Given the description of an element on the screen output the (x, y) to click on. 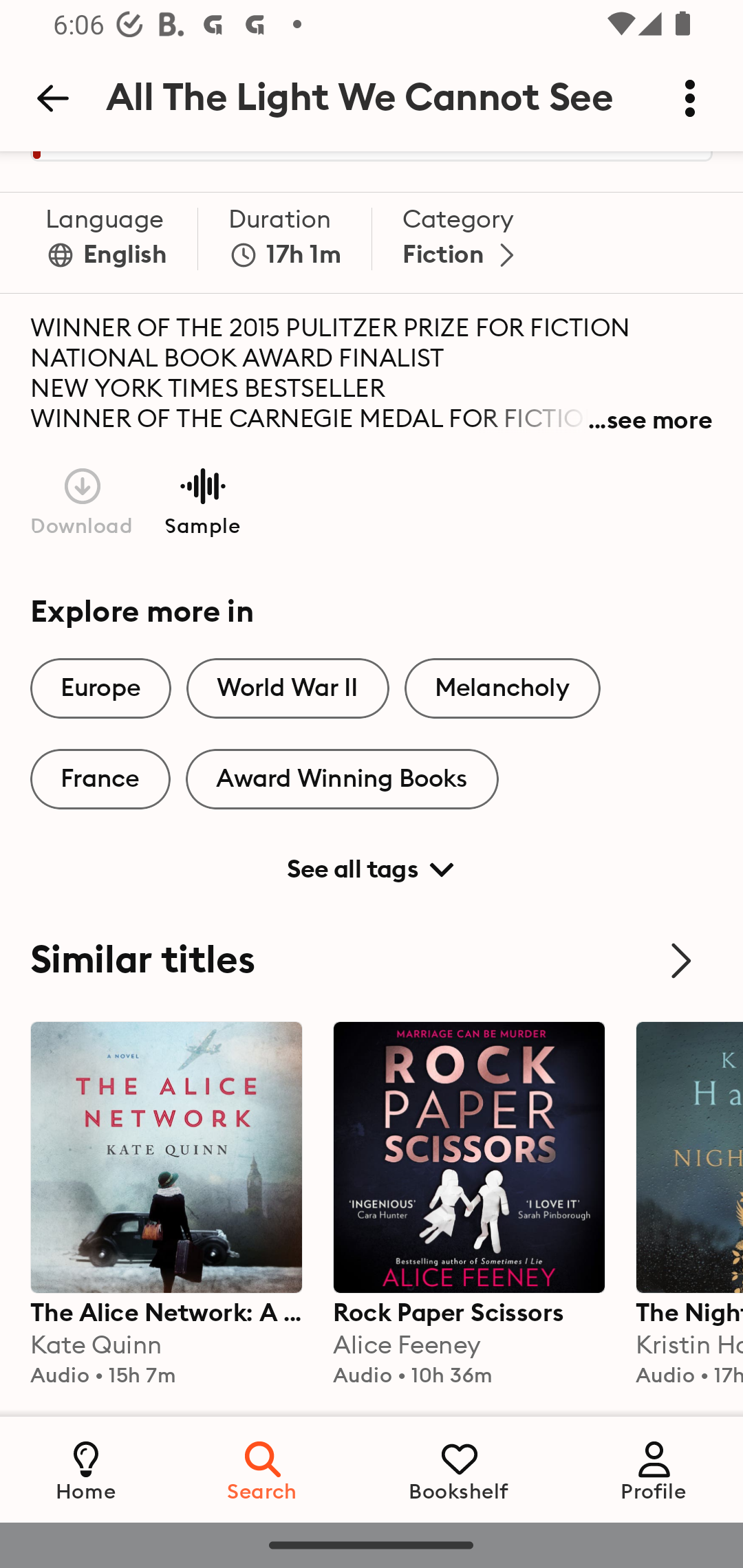
Back (52, 98)
More options (689, 98)
Category Fiction (462, 242)
Play sample (202, 499)
Europe (100, 687)
World War II (287, 687)
Melancholy (502, 687)
France (100, 778)
Award Winning Books (341, 778)
See all tags (371, 862)
Similar titles (371, 960)
Home (85, 1468)
Search (262, 1468)
Bookshelf (458, 1468)
Profile (653, 1468)
